Given the description of an element on the screen output the (x, y) to click on. 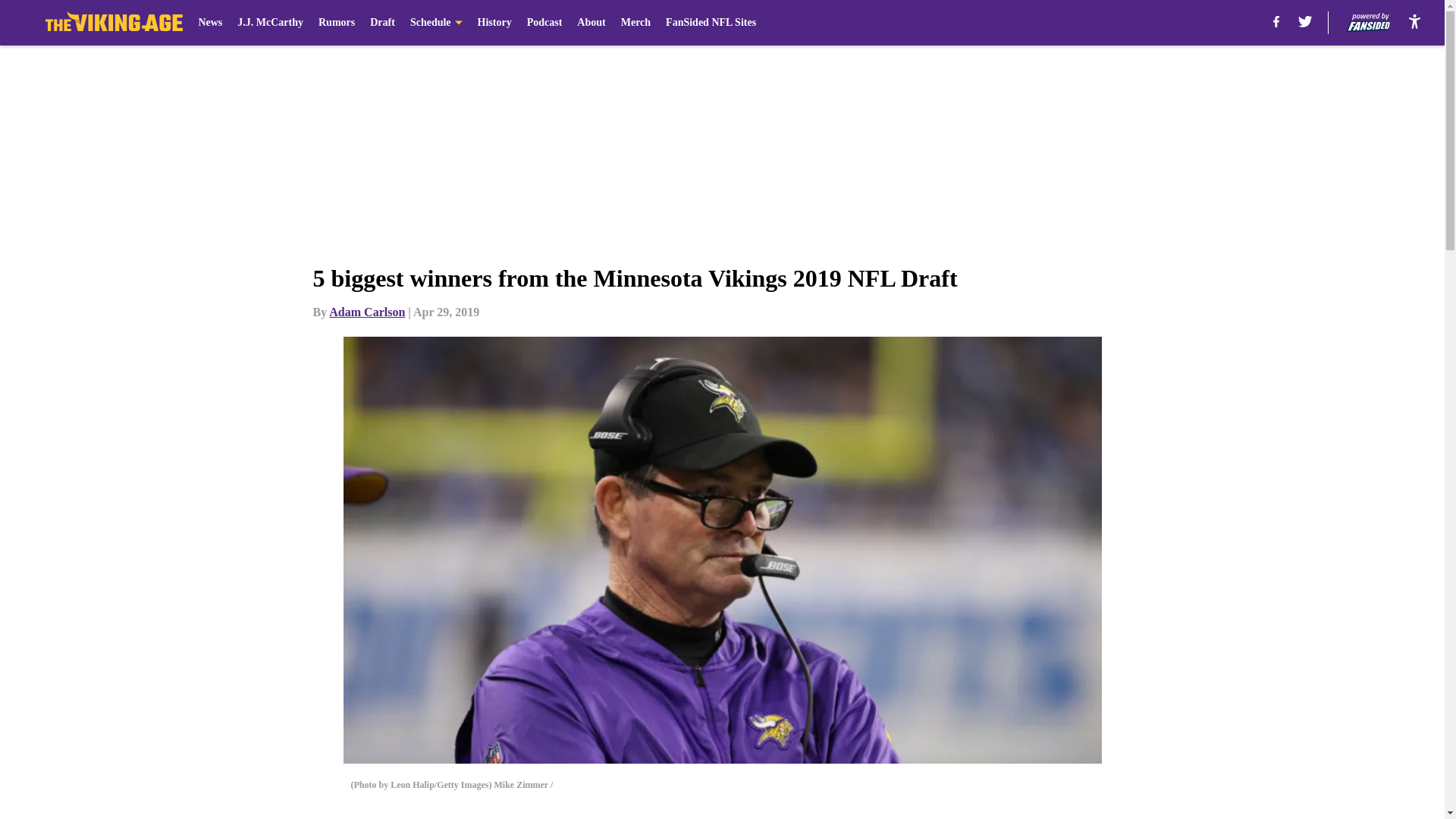
Merch (635, 22)
Draft (381, 22)
News (210, 22)
History (494, 22)
Adam Carlson (366, 311)
FanSided NFL Sites (710, 22)
Rumors (336, 22)
Podcast (544, 22)
About (590, 22)
J.J. McCarthy (269, 22)
